Given the description of an element on the screen output the (x, y) to click on. 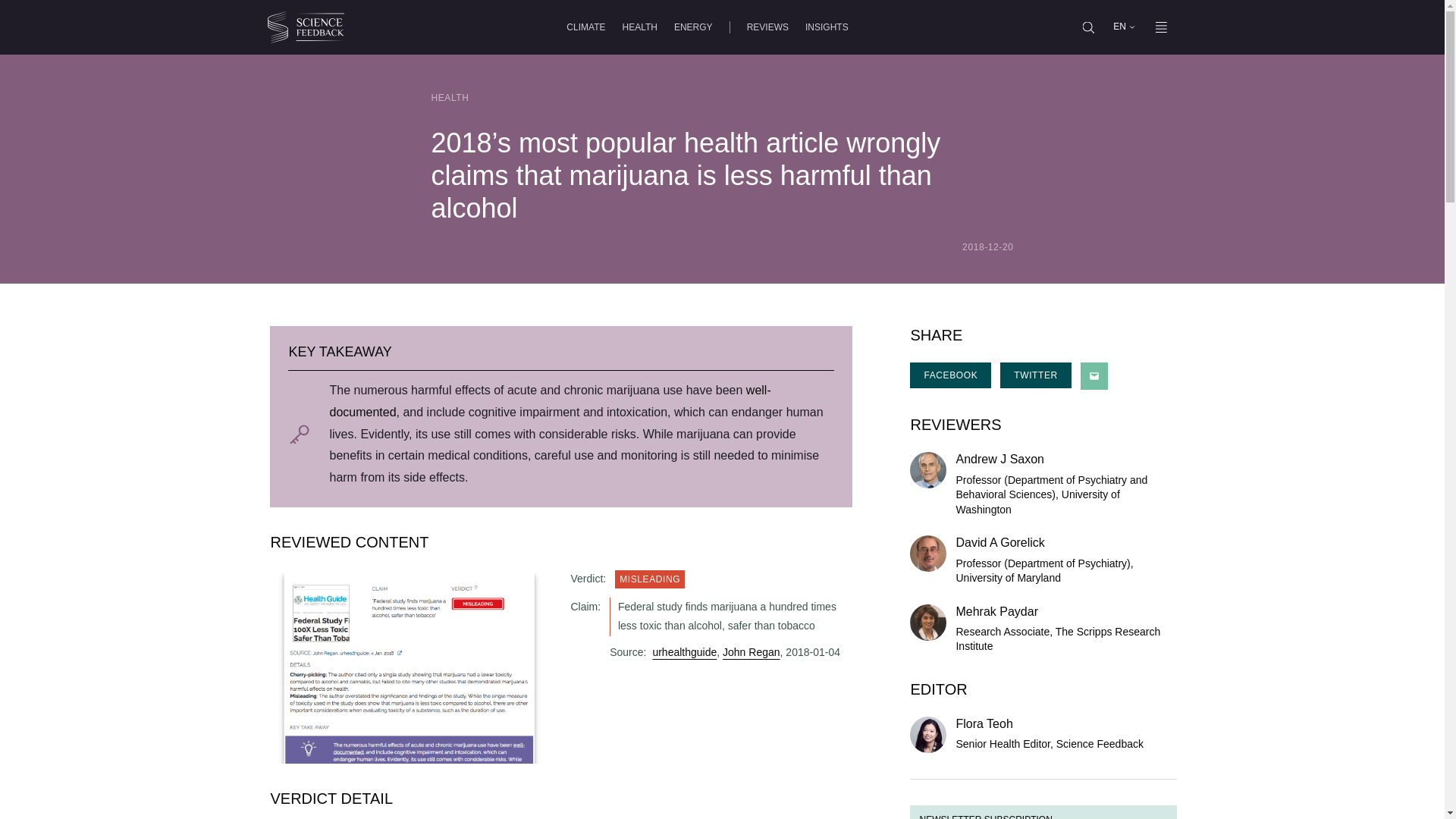
well-documented (549, 401)
EN (1123, 27)
English (1119, 26)
HEALTH (638, 26)
urhealthguide (684, 652)
REVIEWS (767, 26)
John Regan (751, 652)
CLIMATE (585, 26)
ENERGY (693, 26)
Skip to content (58, 20)
INSIGHTS (826, 26)
